Given the description of an element on the screen output the (x, y) to click on. 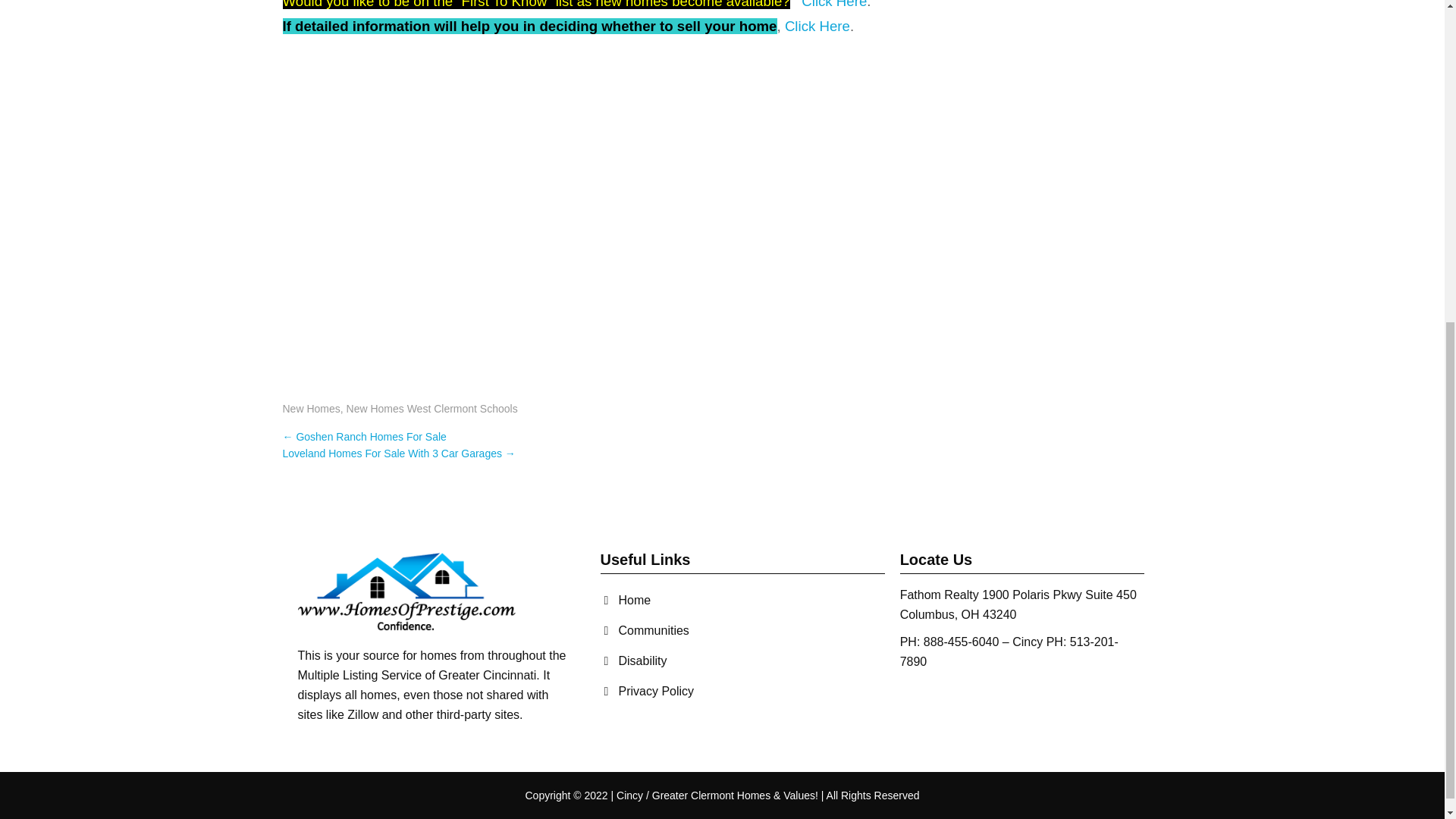
Disability (632, 661)
New Homes West Clermont Schools (432, 408)
Communities (643, 630)
Home (624, 600)
Click Here (834, 4)
Click Here (817, 26)
New Homes (310, 408)
Privacy Policy (646, 691)
